Given the description of an element on the screen output the (x, y) to click on. 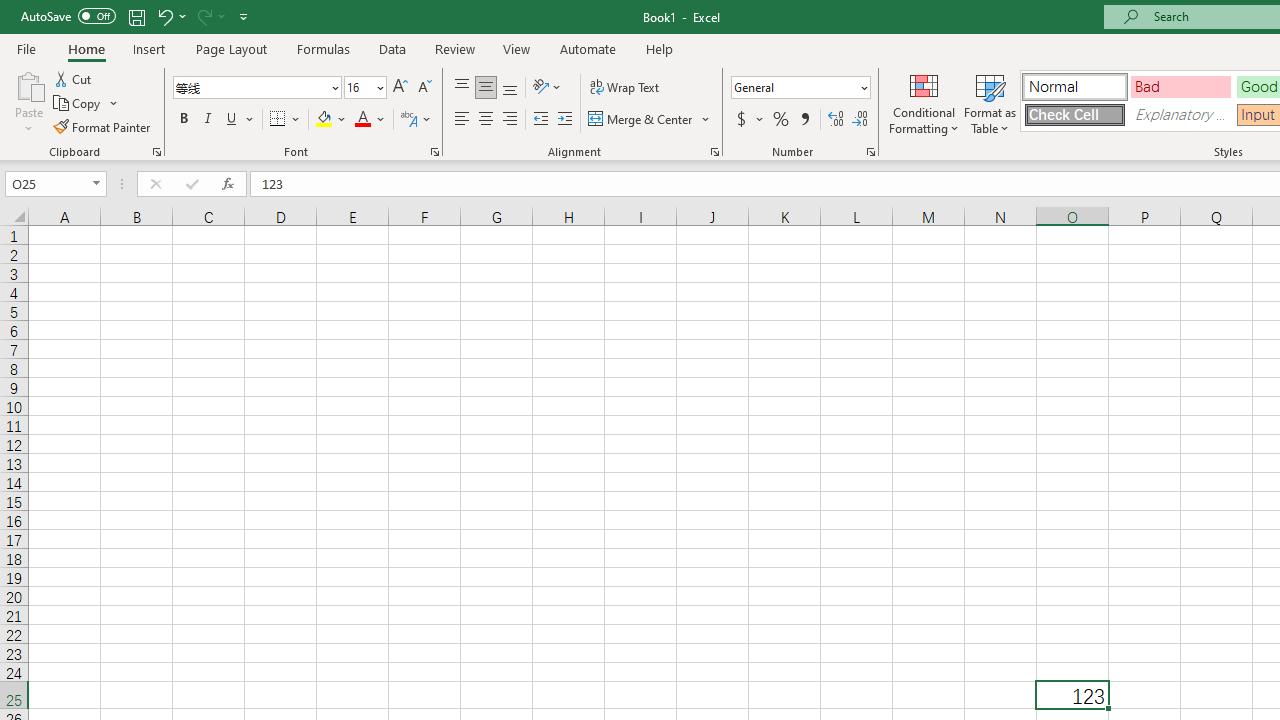
Show Phonetic Field (408, 119)
Explanatory Text (1180, 114)
File Tab (26, 48)
Font Size (358, 87)
Format as Table (990, 102)
Bottom Border (278, 119)
Merge & Center (641, 119)
Format Painter (103, 126)
Check Cell (1074, 114)
Font (250, 87)
Automate (588, 48)
Customize Quick Access Toolbar (244, 15)
Fill Color (331, 119)
Wrap Text (624, 87)
